Given the description of an element on the screen output the (x, y) to click on. 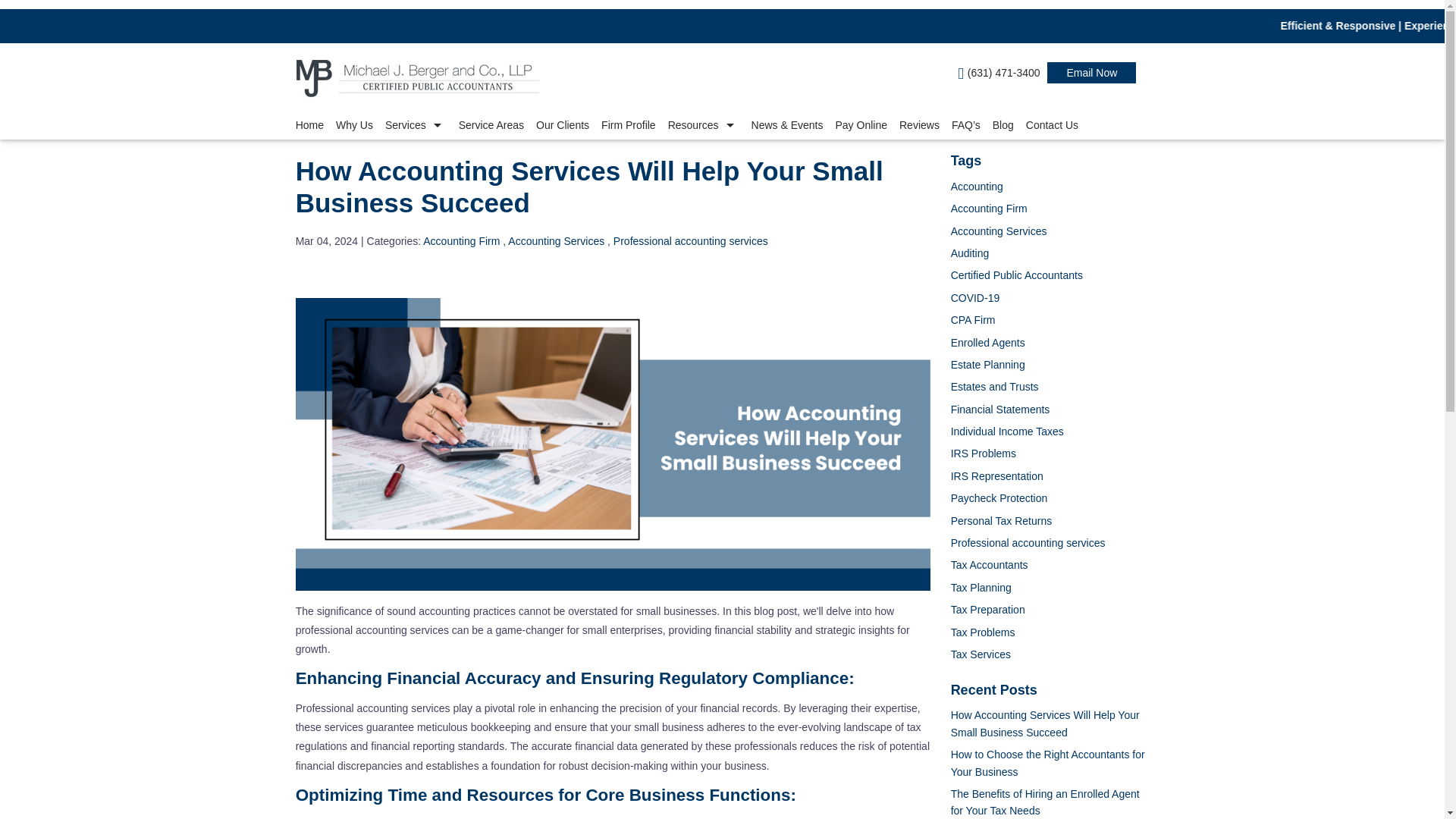
Professional accounting services (690, 241)
Why Us (354, 125)
Firm Profile (628, 125)
Services (415, 125)
Pay Online (861, 125)
Service Areas (490, 125)
Accounting Services (556, 241)
Contact Us (1052, 125)
Home (312, 125)
Blog (1003, 125)
Resources (703, 125)
Accounting Firm (461, 241)
Our Clients (562, 125)
Reviews (918, 125)
Email Now (1091, 72)
